Given the description of an element on the screen output the (x, y) to click on. 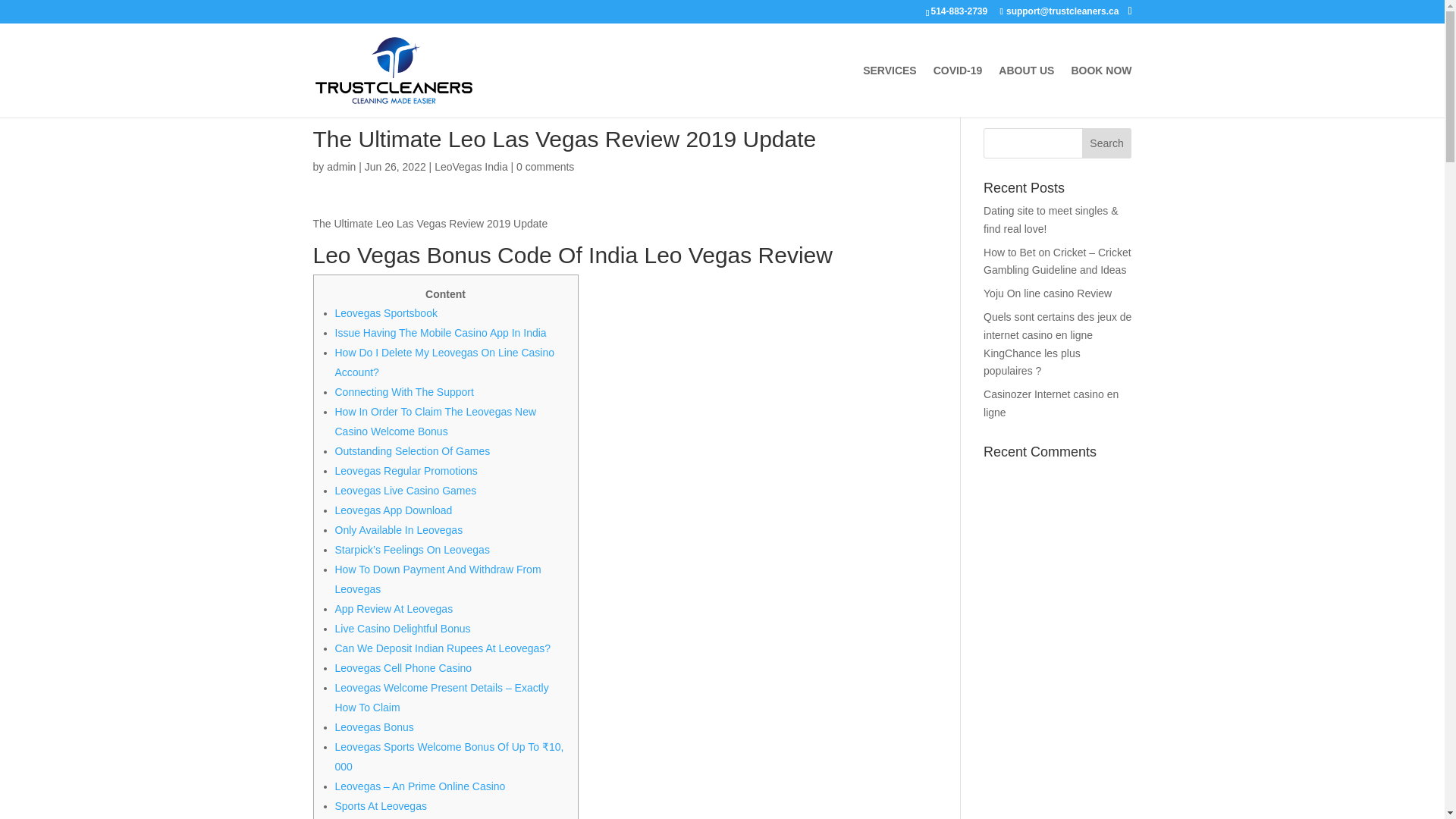
ABOUT US (1026, 91)
Issue Having The Mobile Casino App In India (440, 332)
Leovegas Cell Phone Casino (402, 667)
Leovegas App Download (393, 510)
LeoVegas India (470, 166)
Connecting With The Support (404, 391)
Outstanding Selection Of Games (412, 451)
Leovegas Live Casino Games (405, 490)
BOOK NOW (1100, 91)
Posts by admin (340, 166)
